Given the description of an element on the screen output the (x, y) to click on. 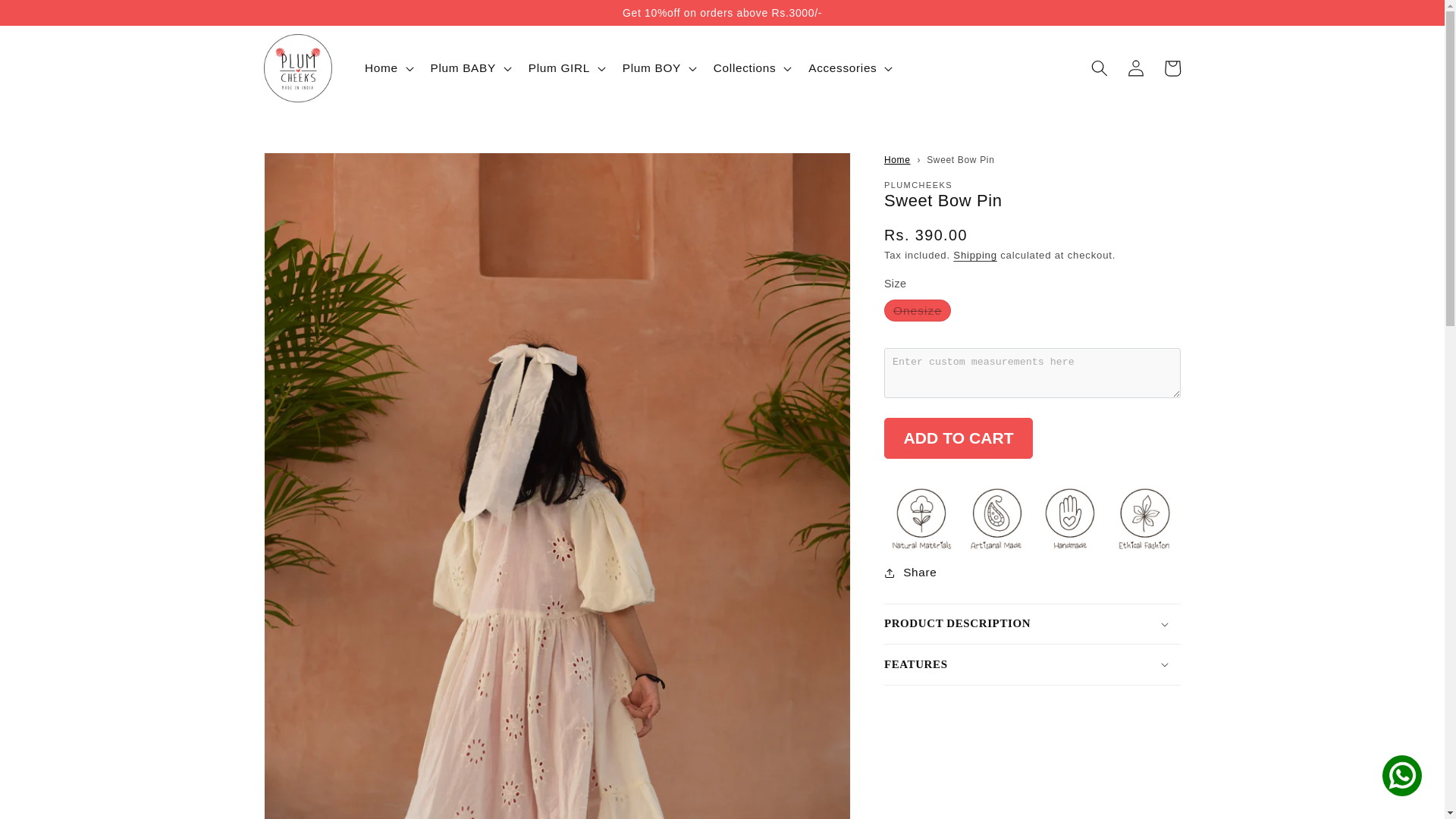
Home (897, 159)
Skip to content (49, 18)
